Given the description of an element on the screen output the (x, y) to click on. 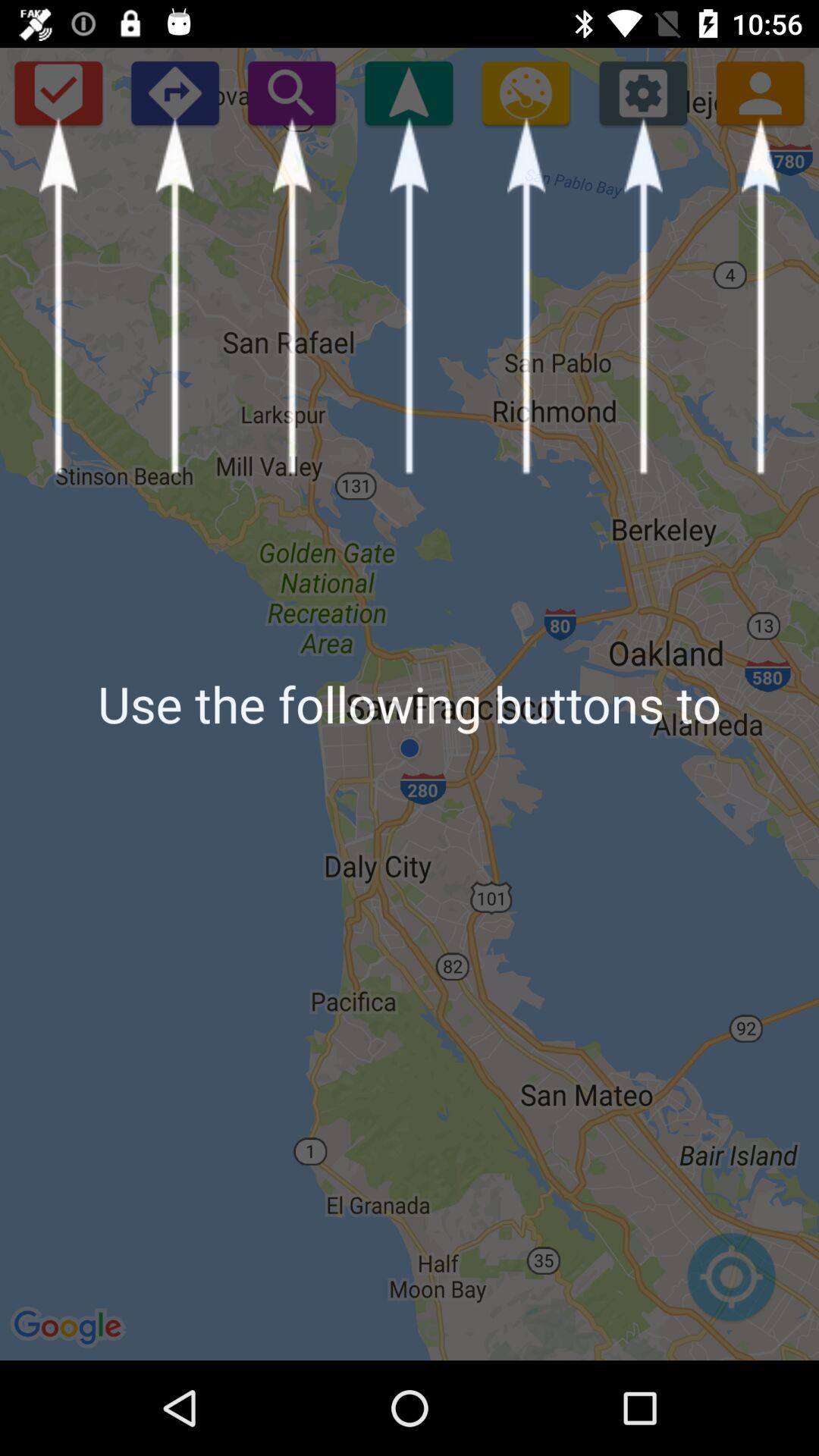
my current location (731, 1284)
